Given the description of an element on the screen output the (x, y) to click on. 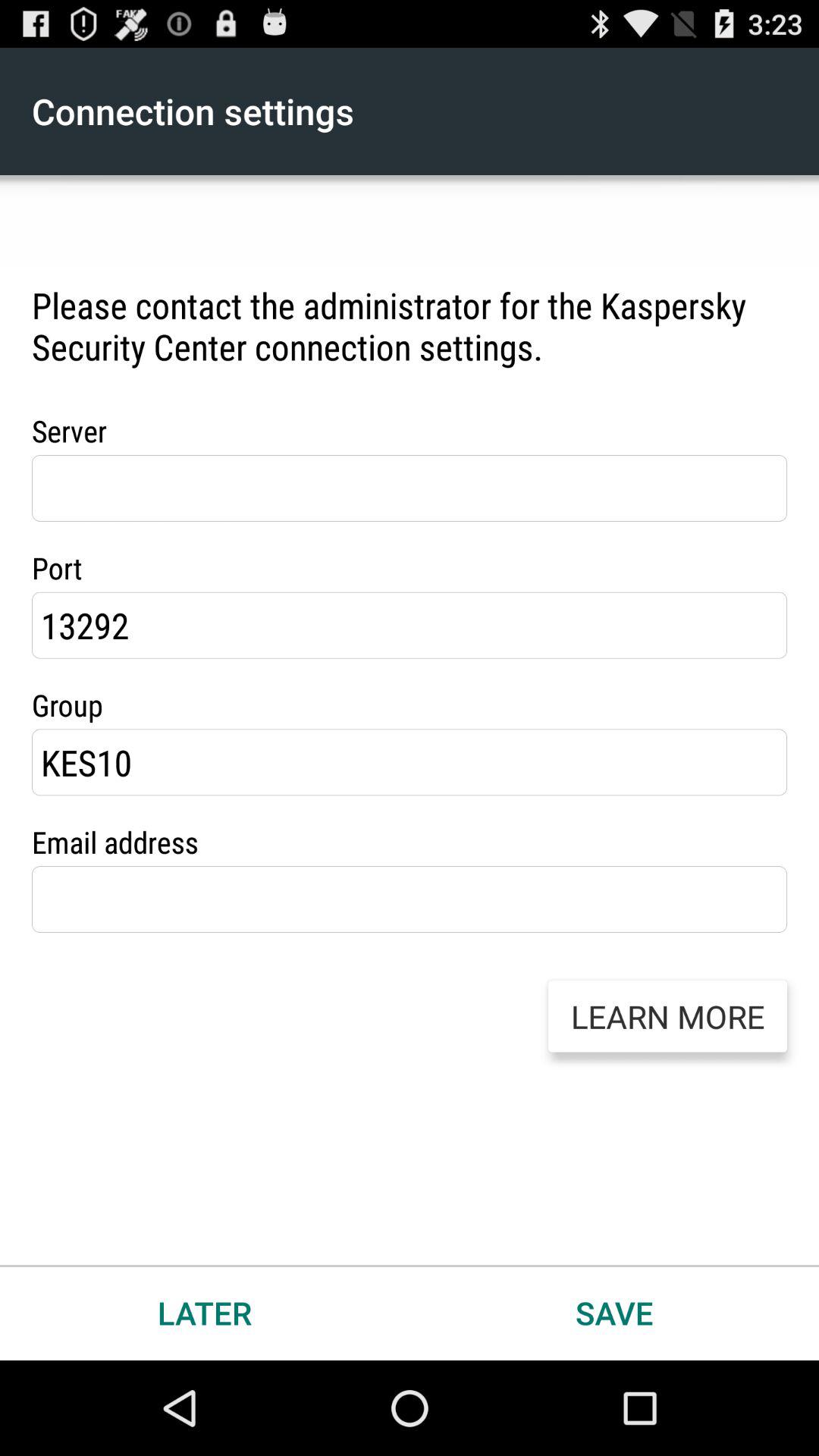
enter server address (409, 488)
